Given the description of an element on the screen output the (x, y) to click on. 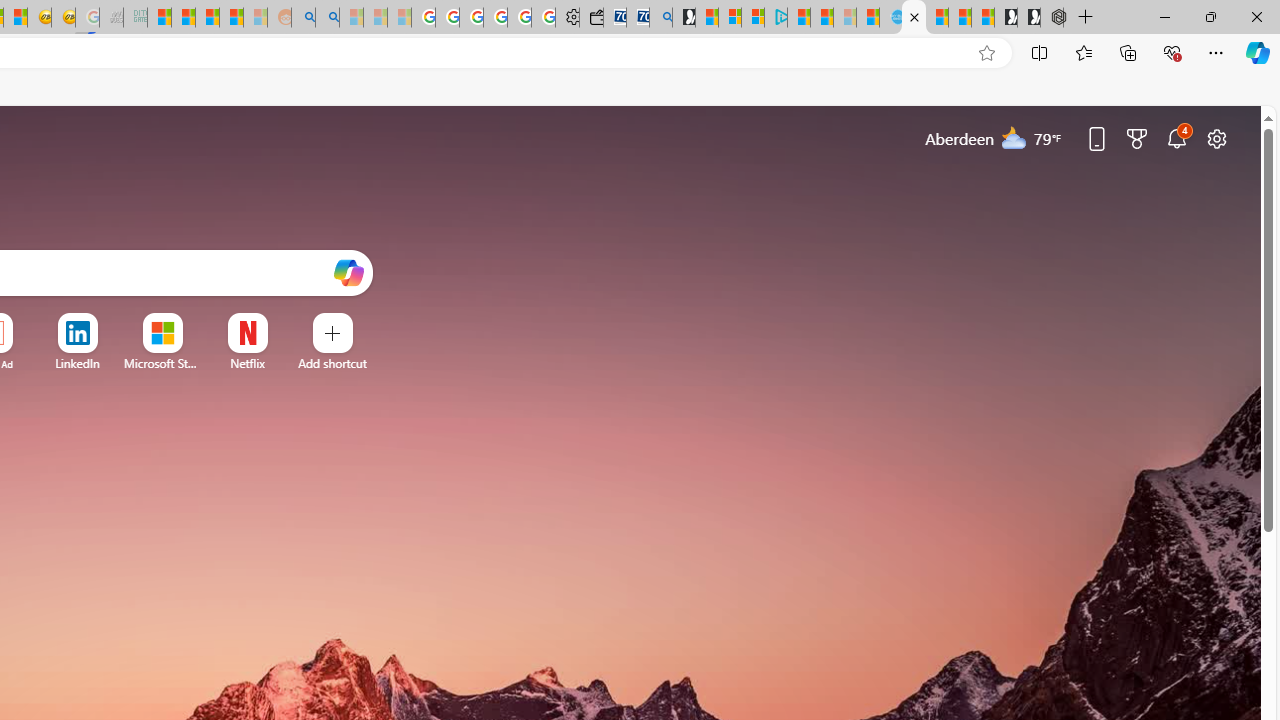
LinkedIn (77, 363)
Page settings (1216, 138)
